Given the description of an element on the screen output the (x, y) to click on. 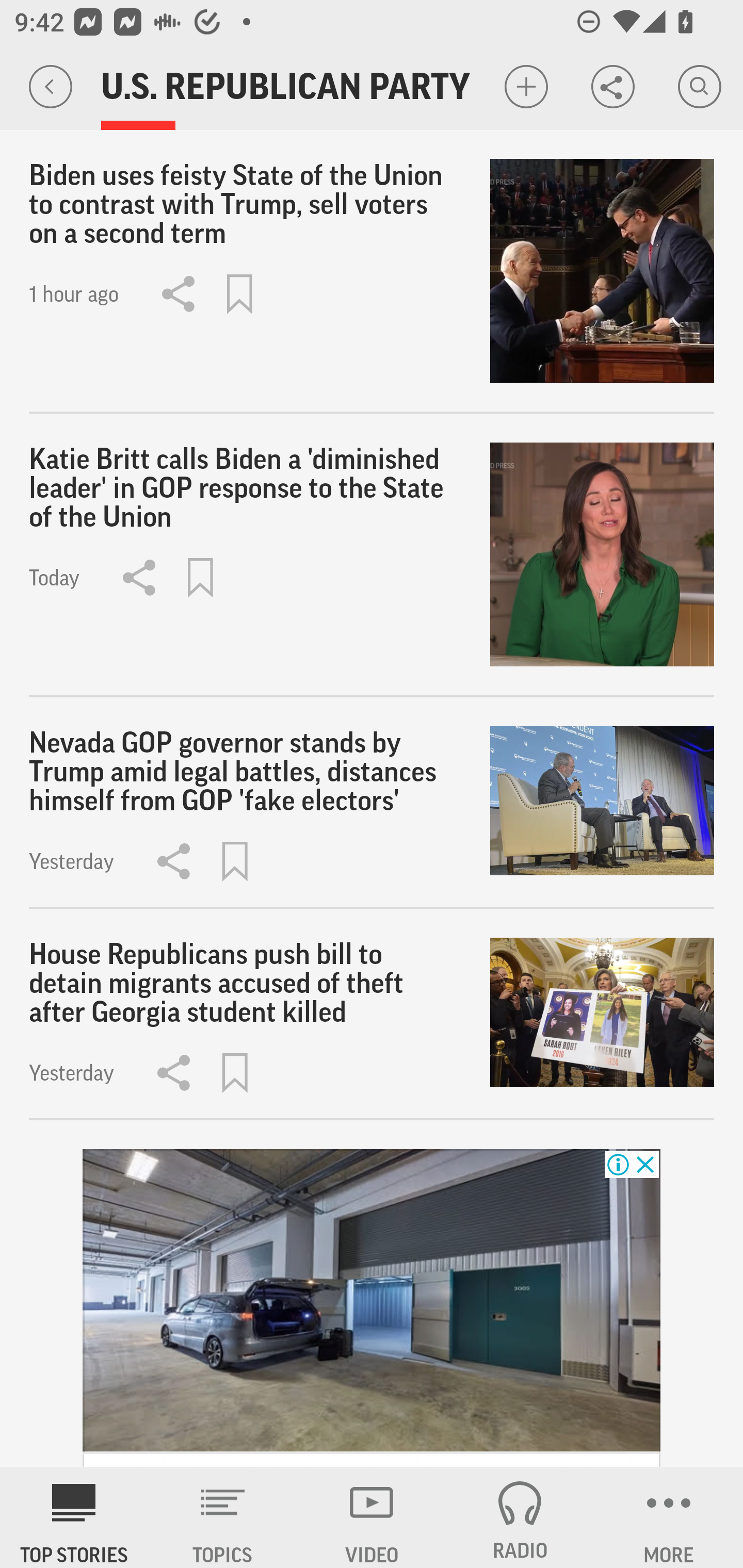
AP News TOP STORIES (74, 1517)
TOPICS (222, 1517)
VIDEO (371, 1517)
RADIO (519, 1517)
MORE (668, 1517)
